Given the description of an element on the screen output the (x, y) to click on. 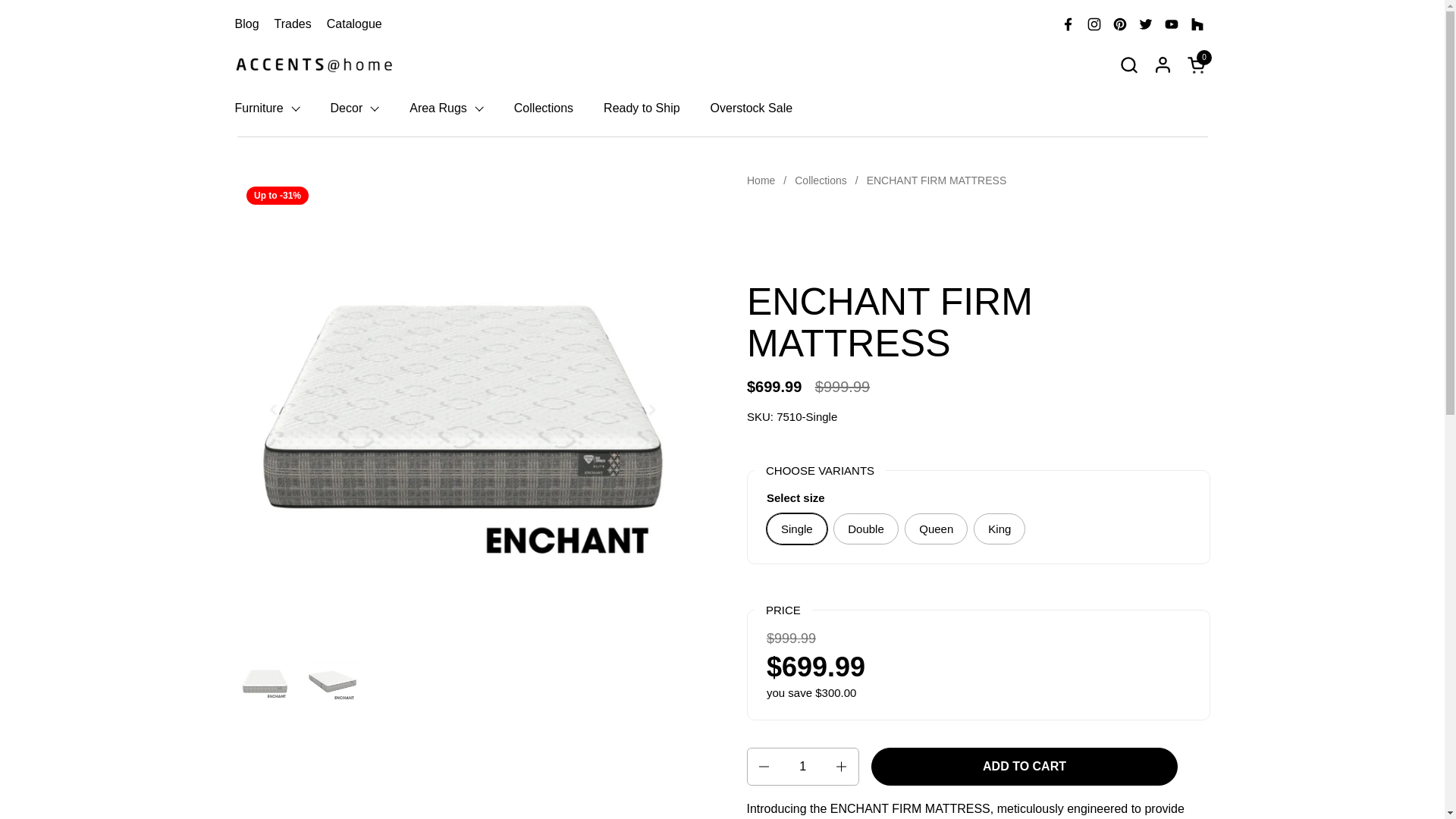
Catalogue (353, 23)
Blog (1198, 63)
Open search (246, 23)
Furniture (1128, 63)
Trades (267, 108)
Facebook (293, 23)
Pinterest (1068, 23)
Skip to content (1119, 23)
